Given the description of an element on the screen output the (x, y) to click on. 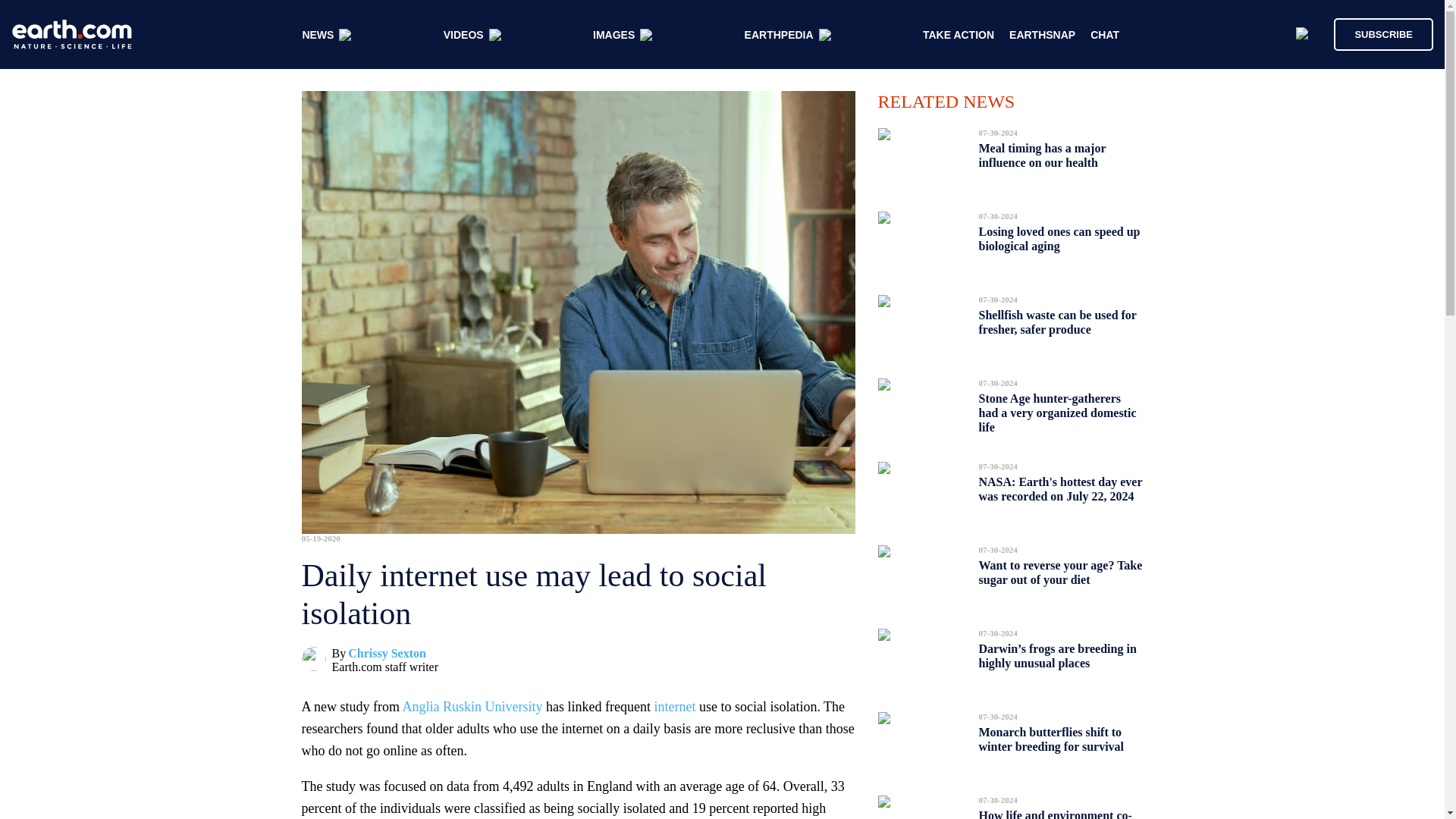
CHAT (1104, 34)
Meal timing has a major influence on our health (1041, 155)
Want to reverse your age? Take sugar out of your diet  (1059, 572)
How life and environment co-evolved over 500 million years (1056, 810)
TAKE ACTION (958, 34)
SUBSCRIBE (1382, 34)
internet (674, 706)
EARTHSNAP (1042, 34)
Monarch butterflies shift to winter breeding for survival (1051, 739)
SUBSCRIBE (1375, 33)
NASA: Earth's hottest day ever was recorded on July 22, 2024 (1059, 488)
Losing loved ones can speed up biological aging (1059, 238)
Shellfish waste can be used for fresher, safer produce (1056, 322)
Anglia Ruskin University (471, 706)
